Given the description of an element on the screen output the (x, y) to click on. 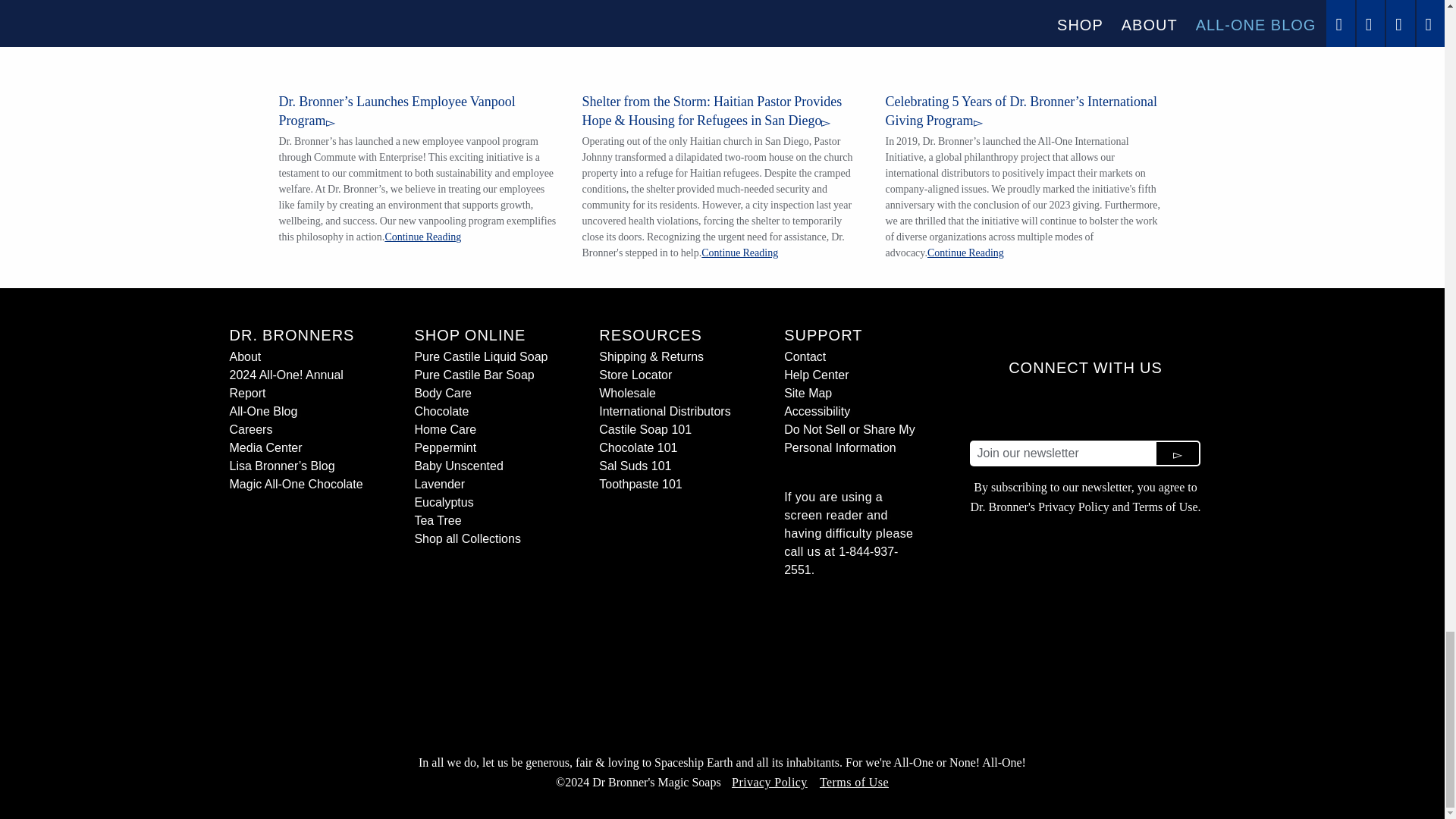
Dr. Bronner's on Instagram (1029, 408)
Dr. Bronner's on Pinterest (1176, 408)
Dr. Bronner's on Twitter (1140, 408)
Dr. Bronner's on YouTube (1103, 408)
Dr. Bronner's on LinkedIn (1067, 408)
Dr. Bronner's on Facebook (992, 408)
